Given the description of an element on the screen output the (x, y) to click on. 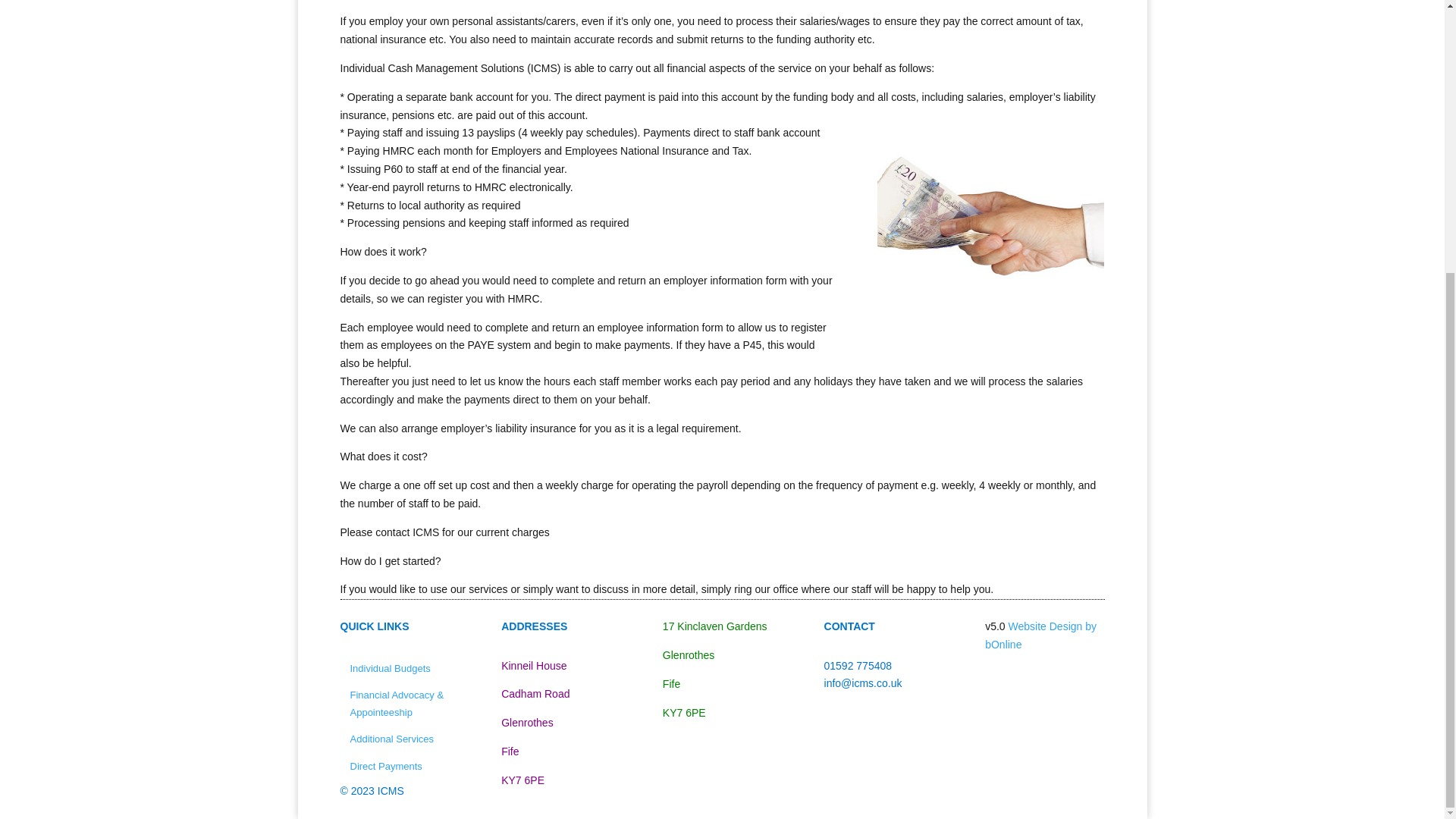
Individual Budgets (389, 668)
Direct Payments (384, 766)
Additional Services (391, 739)
Website Design by bOnline (1040, 634)
asset 2 (990, 217)
